Given the description of an element on the screen output the (x, y) to click on. 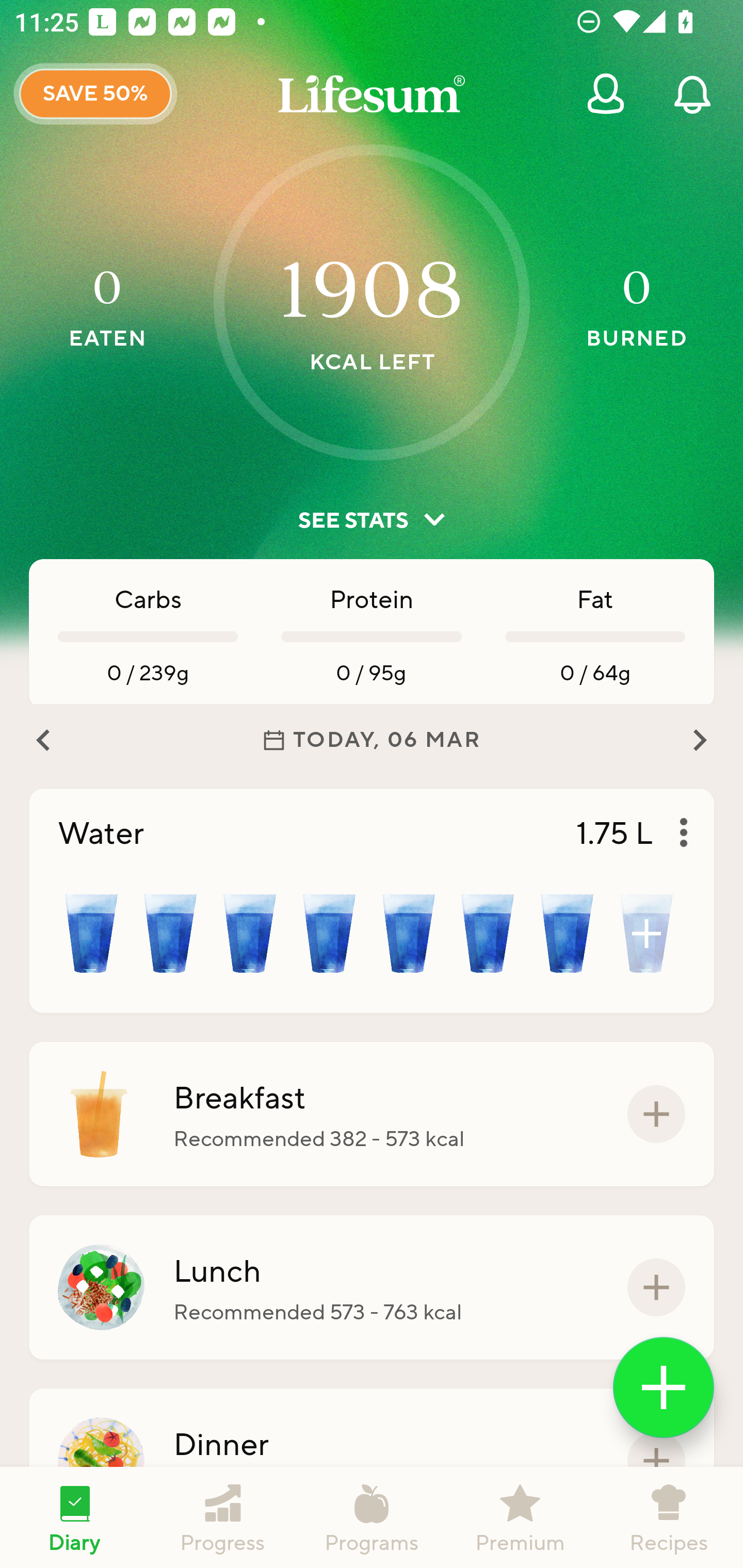
SEE STATS (371, 519)
TODAY, 06 MAR (371, 739)
Breakfast Recommended 382 - 573 kcal (371, 1113)
Lunch Recommended 573 - 763 kcal (371, 1287)
Dinner Recommended 573 - 763 kcal (371, 1461)
Progress (222, 1517)
Programs (371, 1517)
Premium (519, 1517)
Recipes (668, 1517)
